Given the description of an element on the screen output the (x, y) to click on. 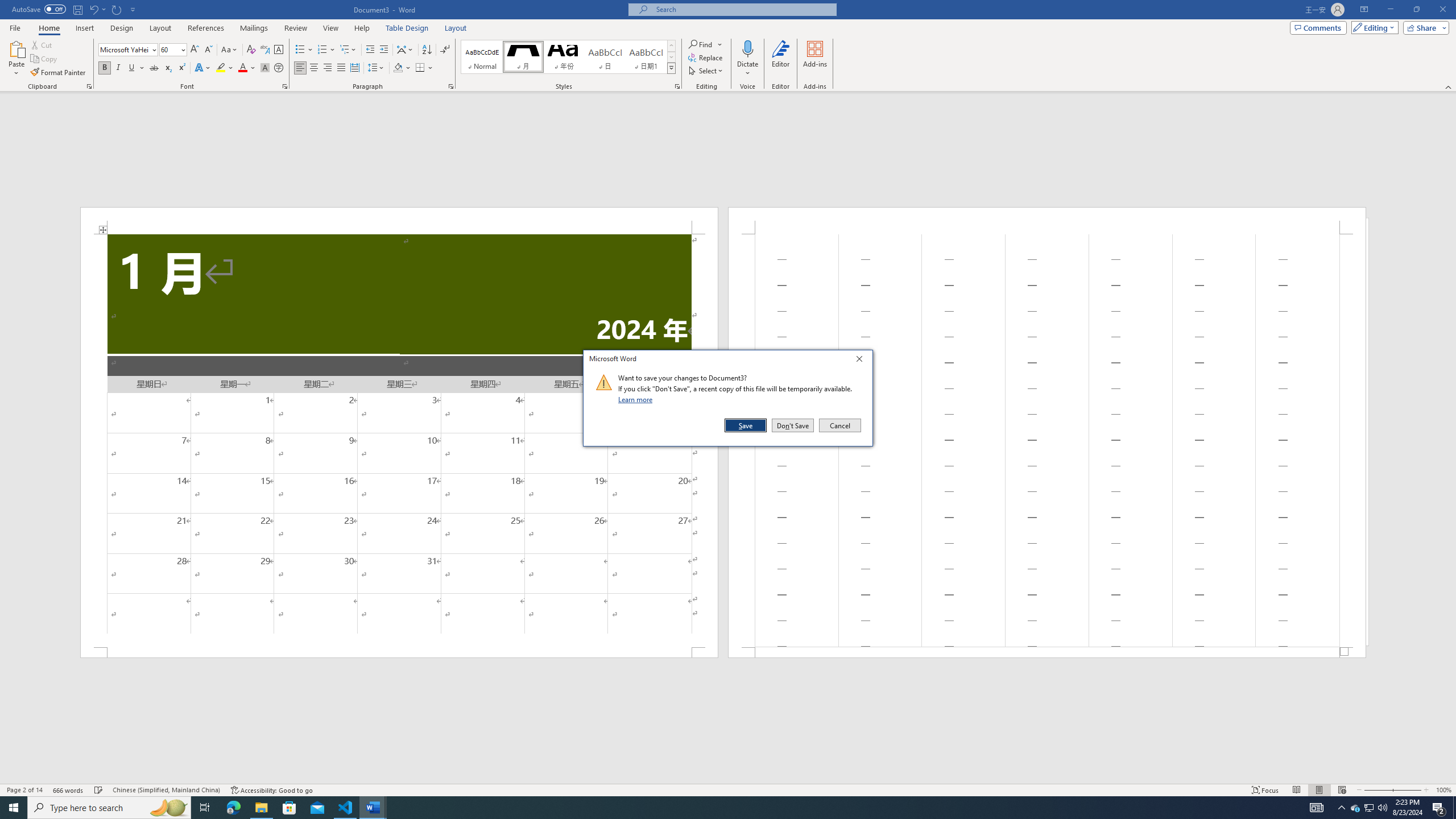
AutoSave (38, 9)
Distributed (354, 67)
Justify (340, 67)
Microsoft Edge (233, 807)
Footer -Section 1- (1046, 652)
Row Down (670, 56)
Text Effects and Typography (202, 67)
Multilevel List (347, 49)
Language Chinese (Simplified, Mainland China) (165, 790)
Comments (1318, 27)
Mode (1372, 27)
Character Shading (264, 67)
File Explorer - 1 running window (261, 807)
Change Case (229, 49)
